Given the description of an element on the screen output the (x, y) to click on. 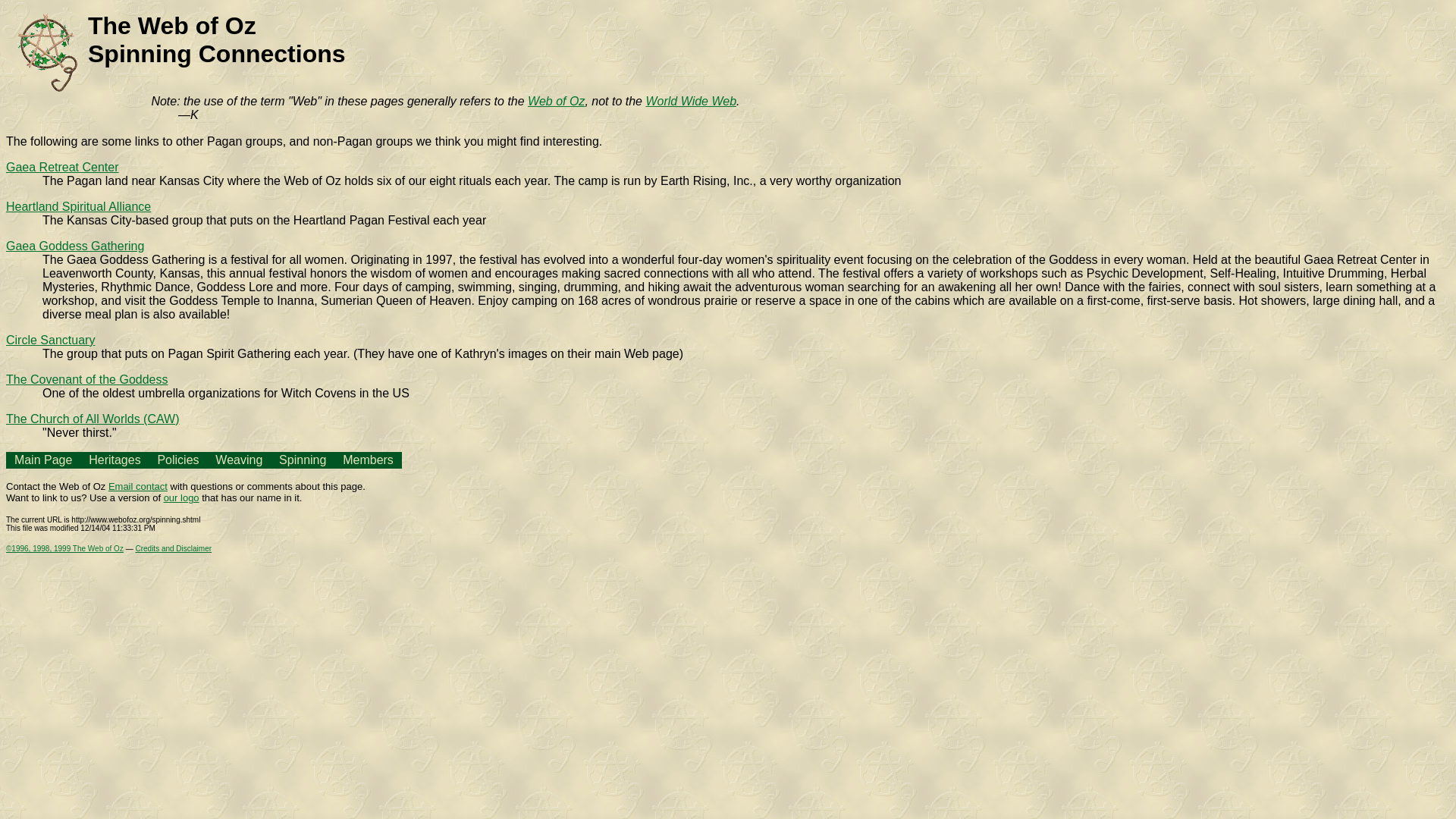
our logo (181, 497)
Gaea Goddess Gathering (74, 245)
World Wide Web (690, 101)
Gaea Retreat Center (62, 166)
Members (367, 459)
Heartland Spiritual Alliance (78, 205)
Heritages (113, 459)
The Covenant of the Goddess (86, 379)
Email contact (137, 486)
Credits and Disclaimer (173, 548)
Web of Oz (556, 101)
Spinning (302, 459)
Weaving (238, 459)
Circle Sanctuary (49, 339)
Main Page (43, 459)
